Given the description of an element on the screen output the (x, y) to click on. 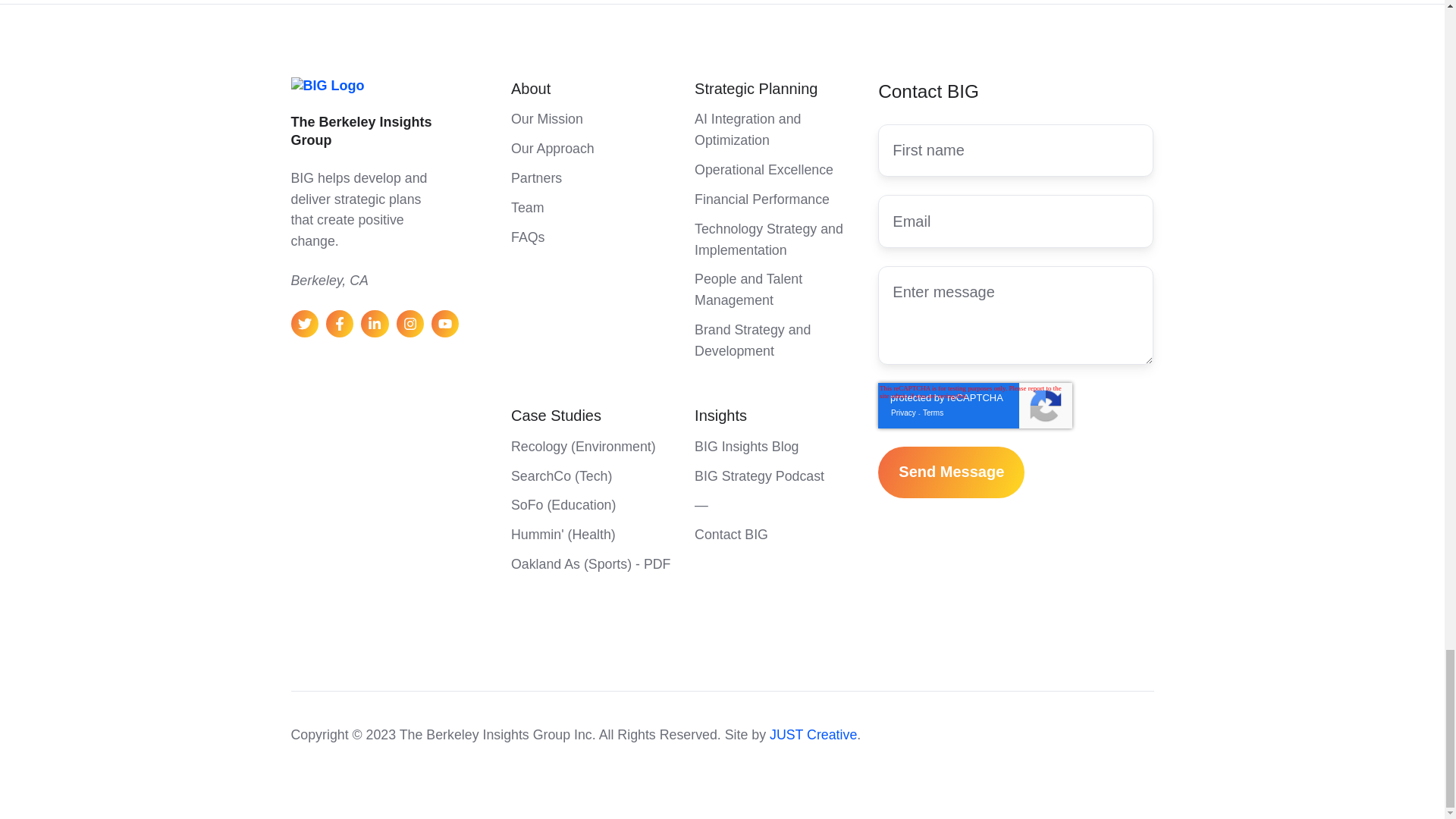
Send Message (951, 471)
reCAPTCHA (974, 405)
